Given the description of an element on the screen output the (x, y) to click on. 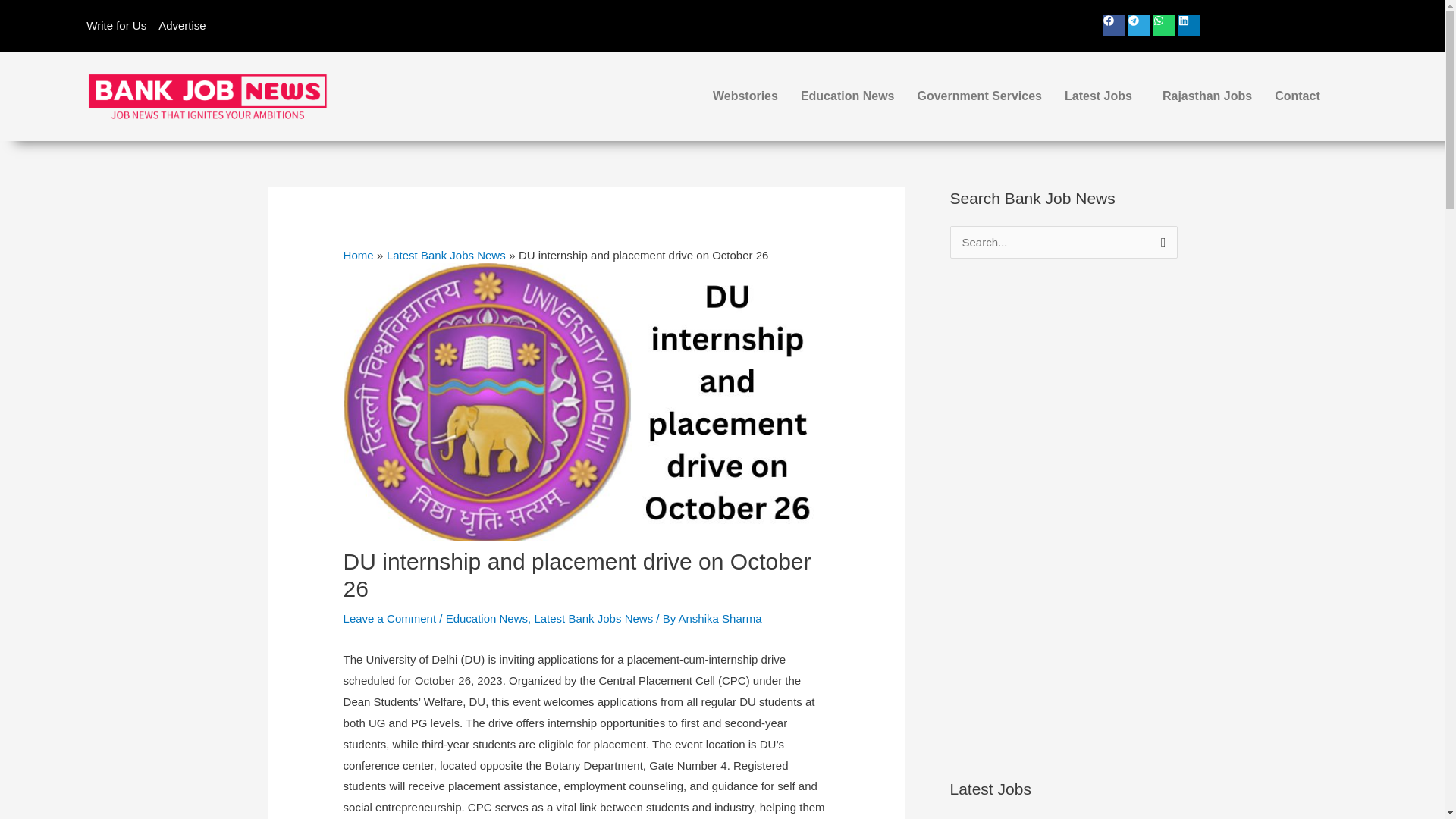
Government Services (978, 95)
View all posts by Anshika Sharma (719, 617)
Linkedin (1188, 25)
Home (358, 254)
Latest Jobs (1101, 95)
Search (1159, 241)
Rajasthan Jobs (1207, 95)
Write for Us (116, 25)
Whatsapp (1163, 25)
Latest Bank Jobs News (446, 254)
